Given the description of an element on the screen output the (x, y) to click on. 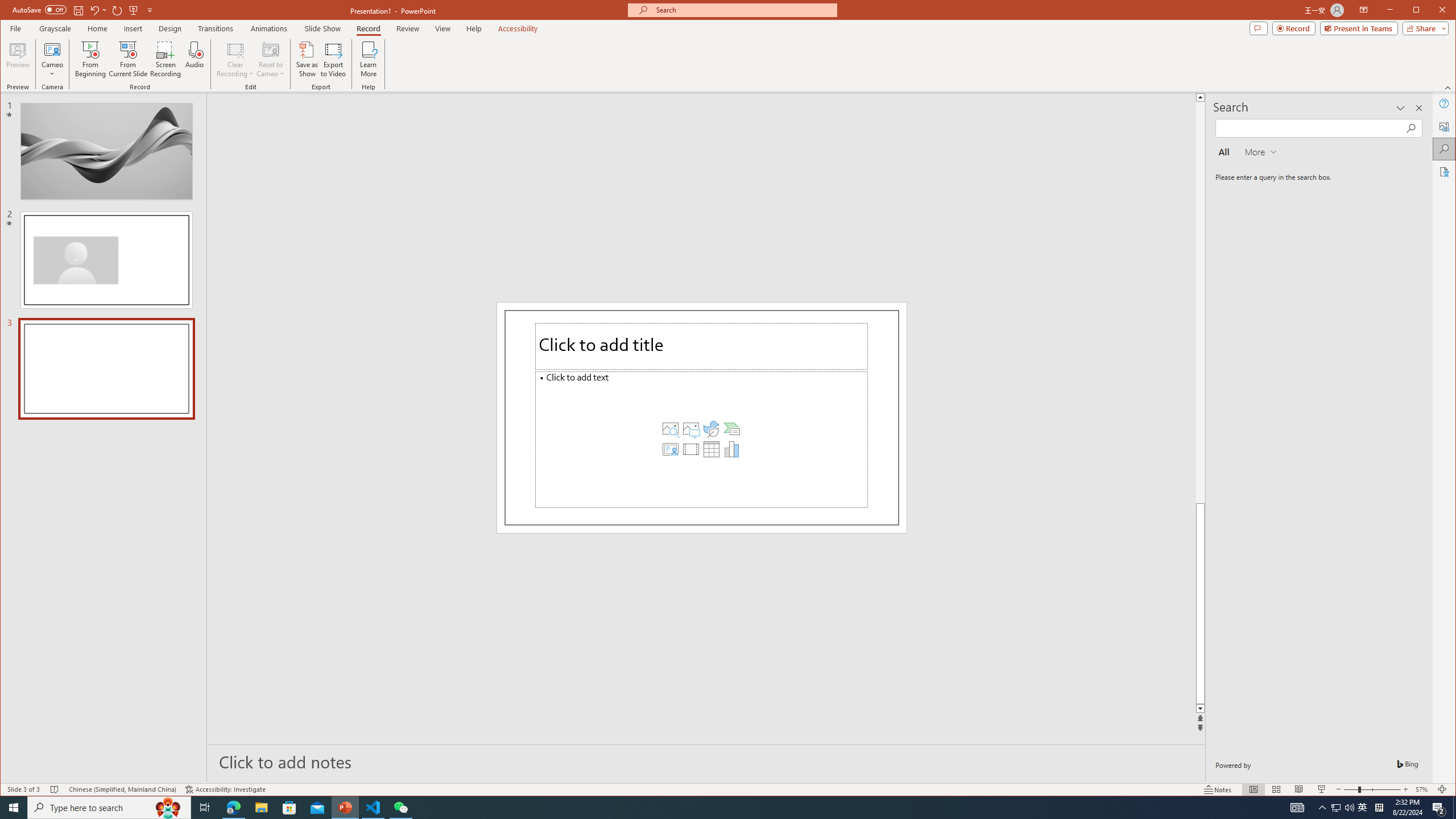
Stock Images (670, 428)
